Given the description of an element on the screen output the (x, y) to click on. 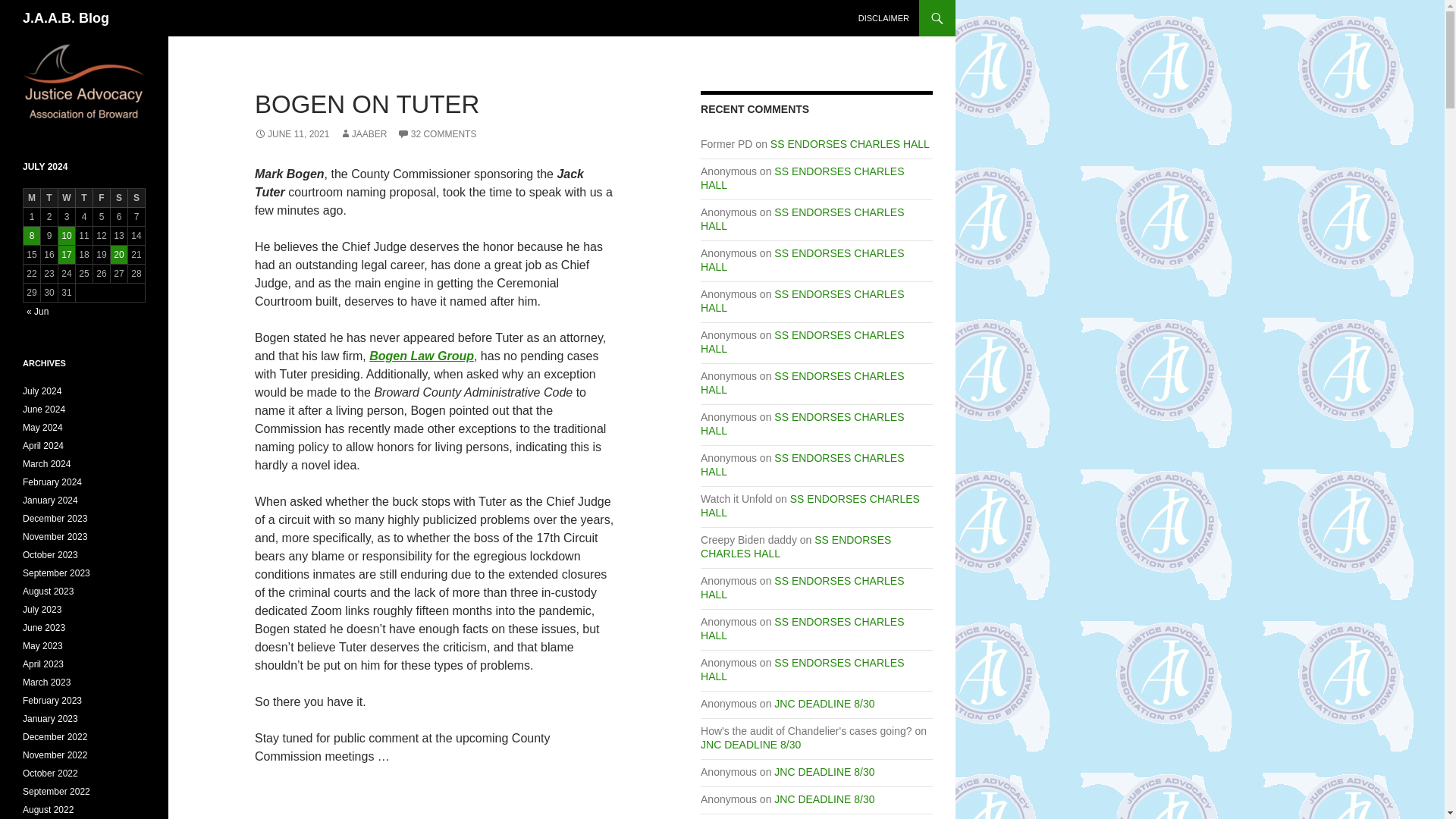
Thursday (84, 198)
Friday (101, 198)
J.A.A.B. Blog (66, 18)
Bogen Law Group (421, 355)
JUNE 11, 2021 (291, 133)
DISCLAIMER (883, 18)
Sunday (136, 198)
32 COMMENTS (437, 133)
Tuesday (49, 198)
JAABER (363, 133)
Saturday (119, 198)
Monday (31, 198)
Wednesday (66, 198)
